Given the description of an element on the screen output the (x, y) to click on. 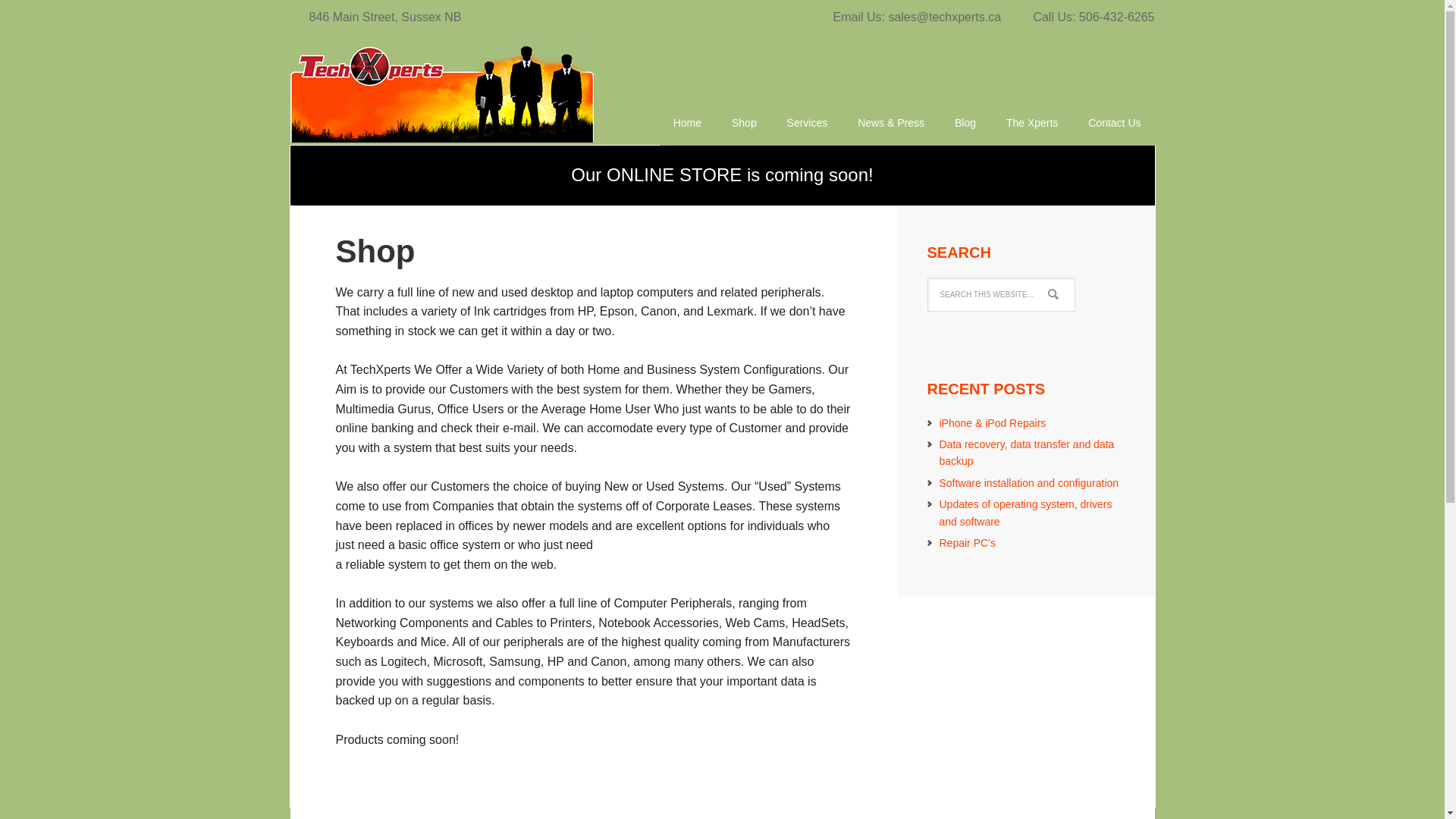
Contact Us (1114, 112)
Services (807, 112)
Software installation and configuration (1028, 482)
The Xperts (1031, 112)
Data recovery, data transfer and data backup (1026, 452)
Updates of operating system, drivers and software (1025, 512)
